Given the description of an element on the screen output the (x, y) to click on. 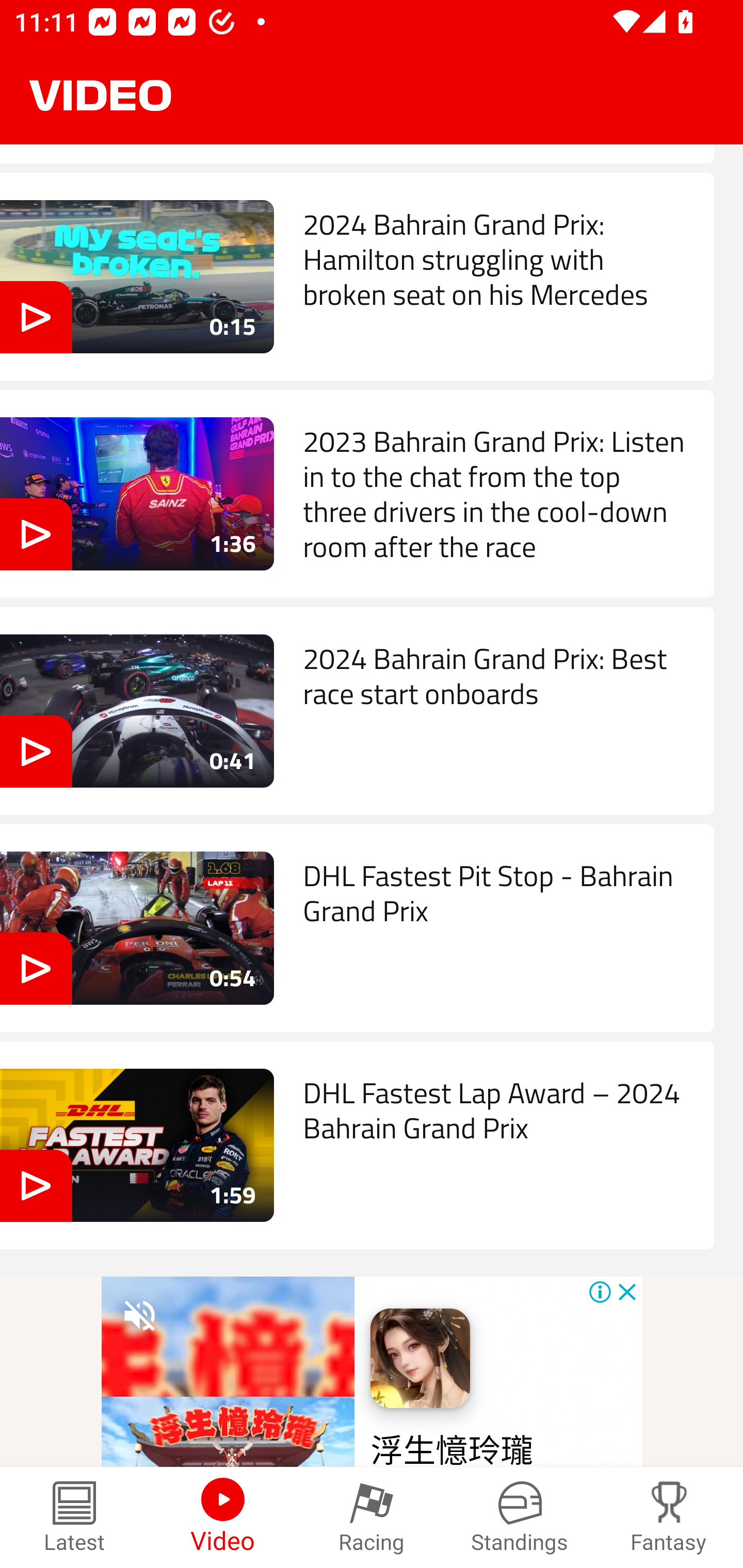
0:54 DHL Fastest Pit Stop - Bahrain Grand Prix (357, 927)
Latest (74, 1517)
Racing (371, 1517)
Standings (519, 1517)
Fantasy (668, 1517)
